Given the description of an element on the screen output the (x, y) to click on. 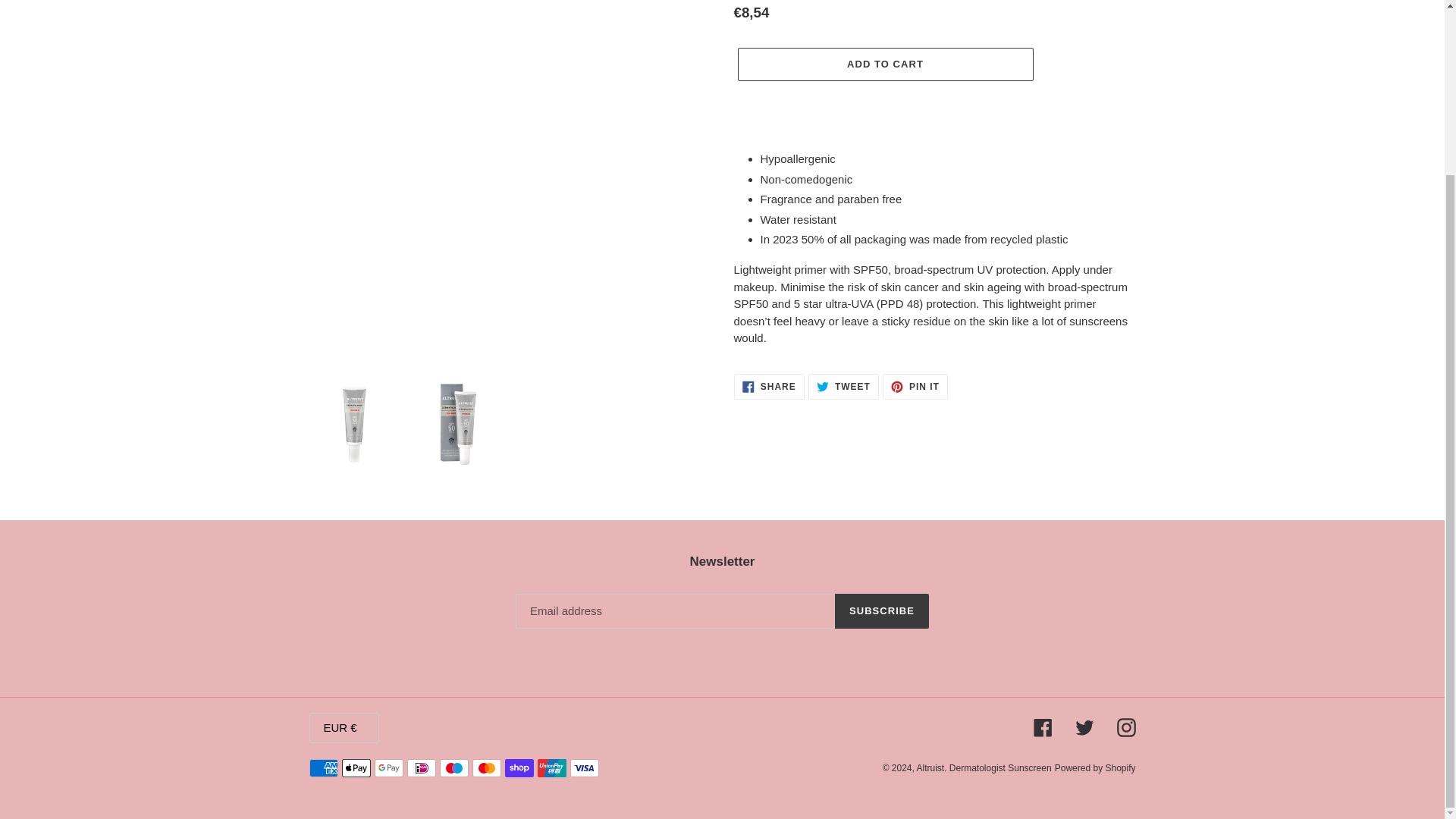
SUBSCRIBE (881, 610)
ADD TO CART (843, 386)
Powered by Shopify (884, 64)
Facebook (1094, 767)
Twitter (1041, 727)
Instagram (914, 386)
Altruist. Dermatologist Sunscreen (1084, 727)
